Given the description of an element on the screen output the (x, y) to click on. 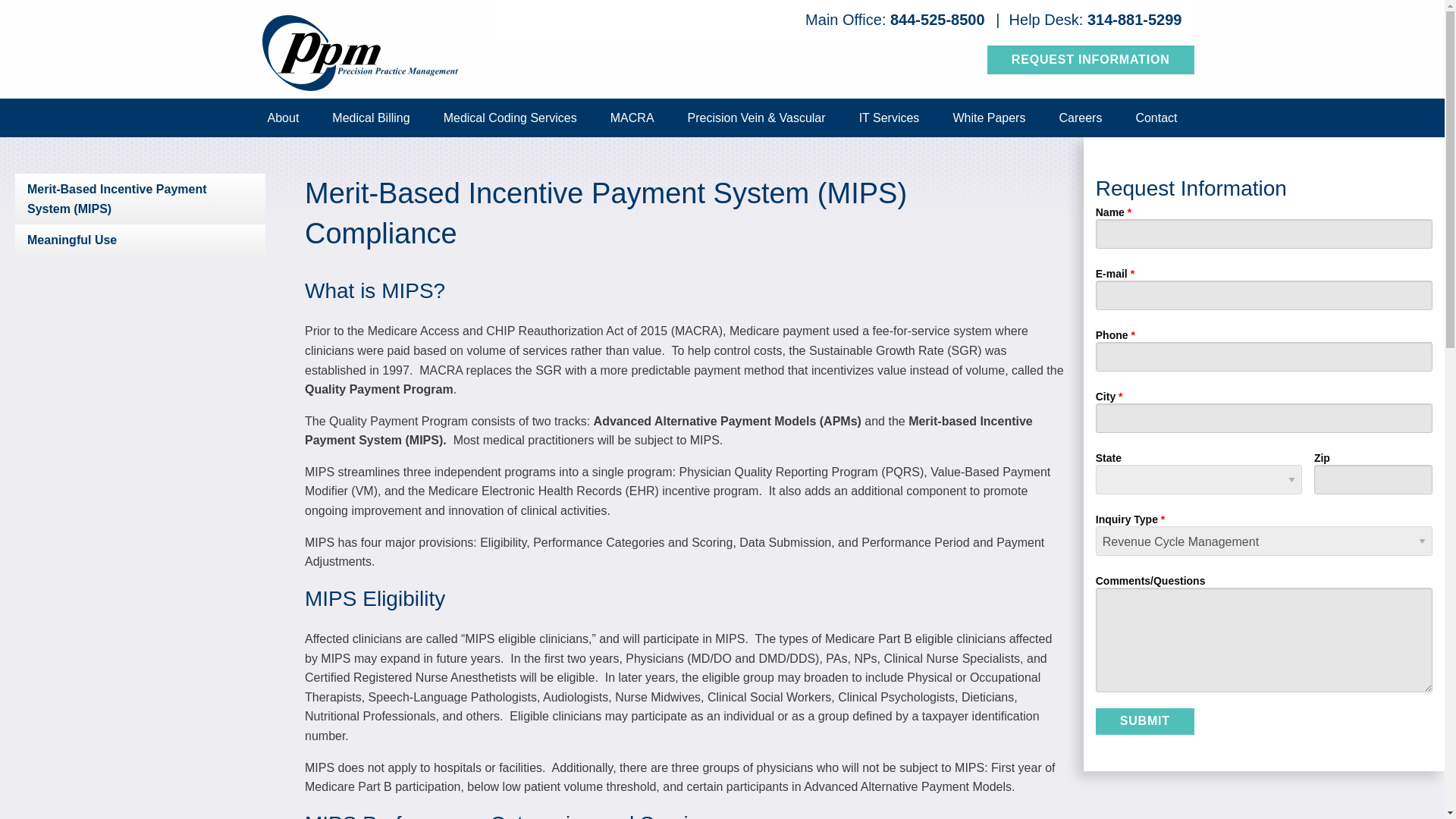
Main Office: 844-525-8500 (894, 19)
About (282, 118)
Submit (1144, 720)
Help Desk: 314-881-5299 (1095, 19)
REQUEST INFORMATION (1090, 59)
Medical Billing (370, 118)
